Given the description of an element on the screen output the (x, y) to click on. 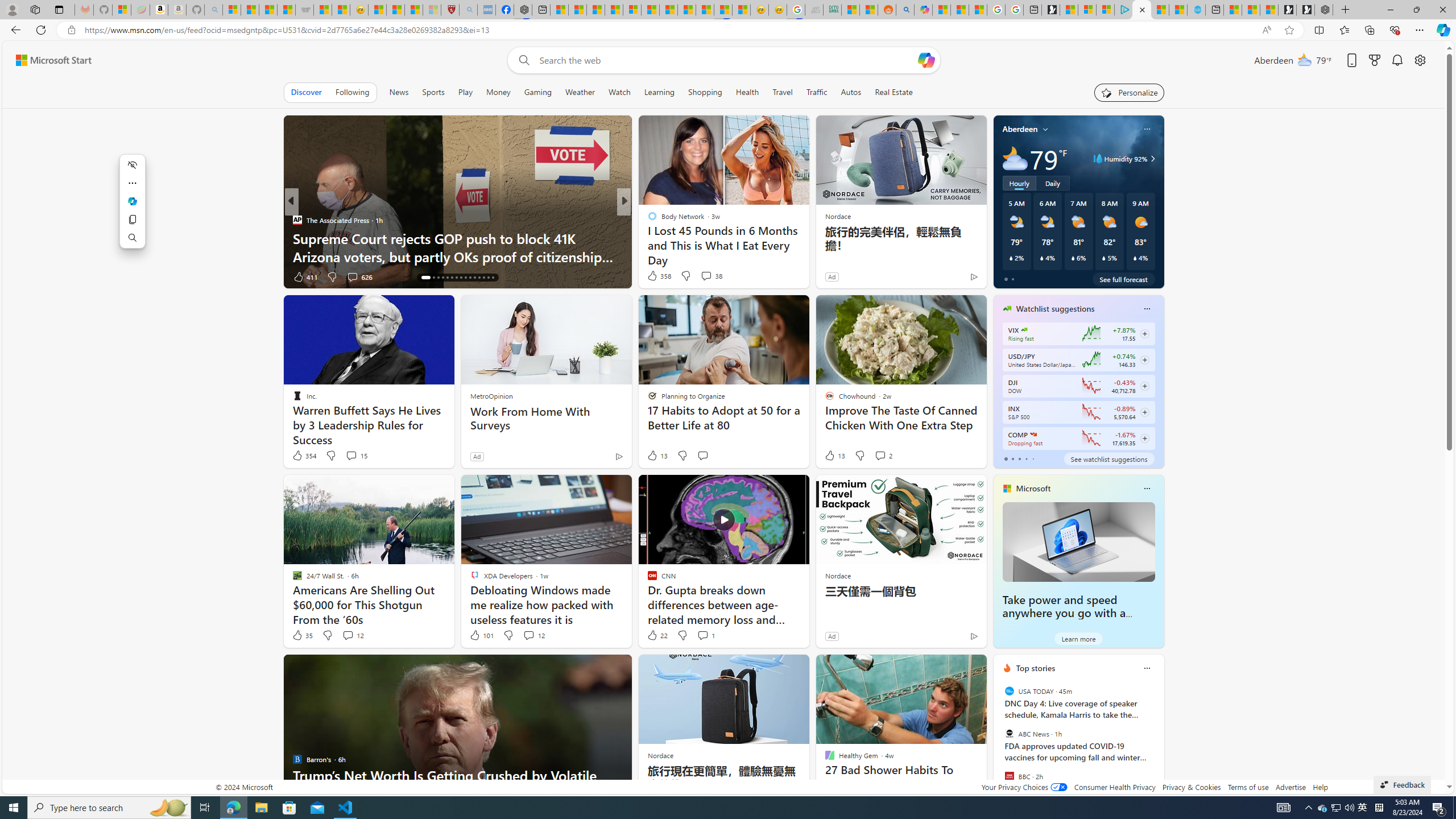
View comments 64 Comment (703, 276)
View comments 11 Comment (698, 276)
Parade (647, 219)
Daily (1052, 183)
AutomationID: tab-29 (488, 277)
AutomationID: tab-24 (465, 277)
